Given the description of an element on the screen output the (x, y) to click on. 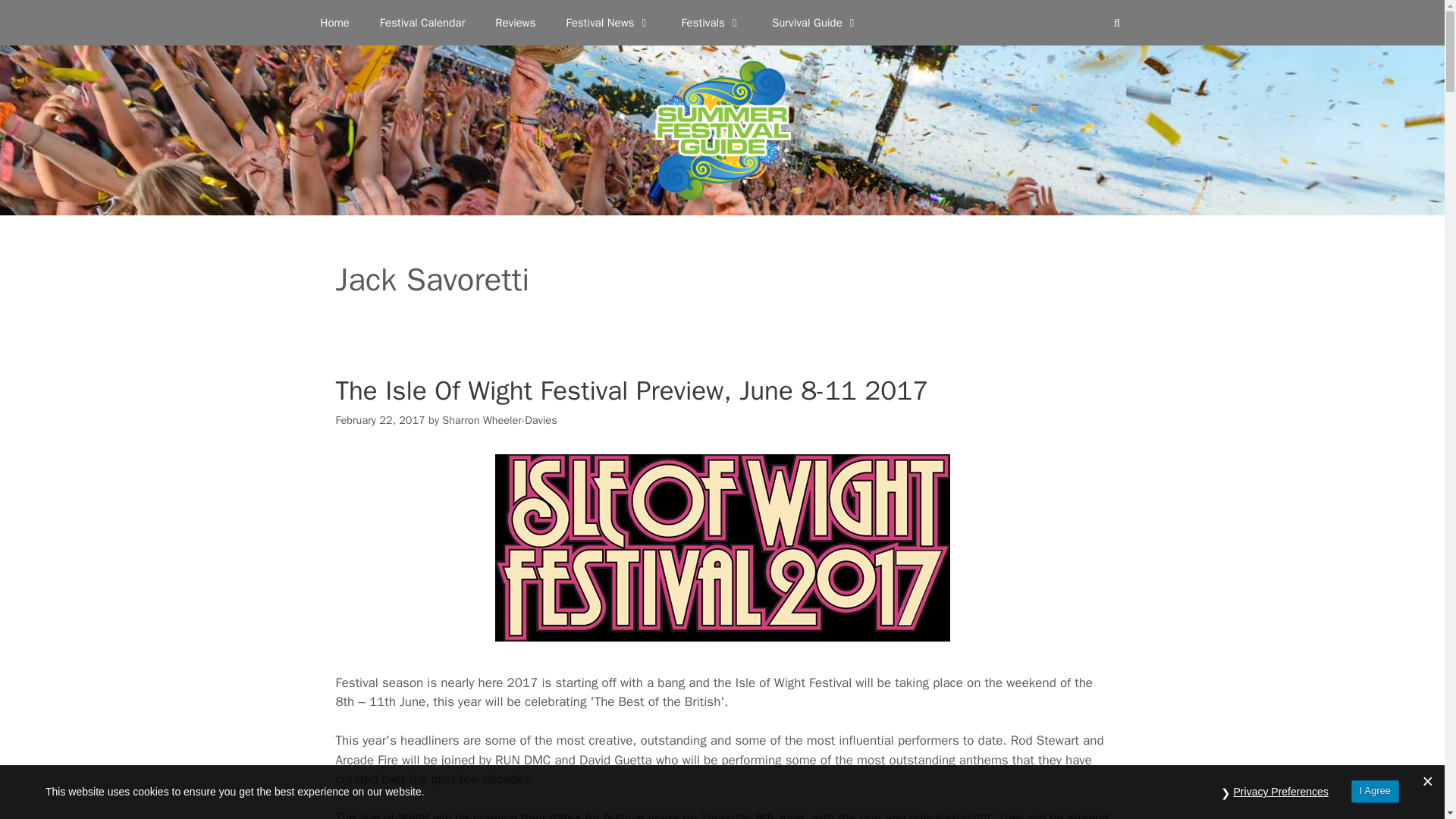
Festival News (607, 22)
Reviews (515, 22)
View all posts by Sharron Wheeler-Davies (499, 419)
Survival Guide (816, 22)
Festival Calendar (422, 22)
Home (334, 22)
Festivals (711, 22)
